Given the description of an element on the screen output the (x, y) to click on. 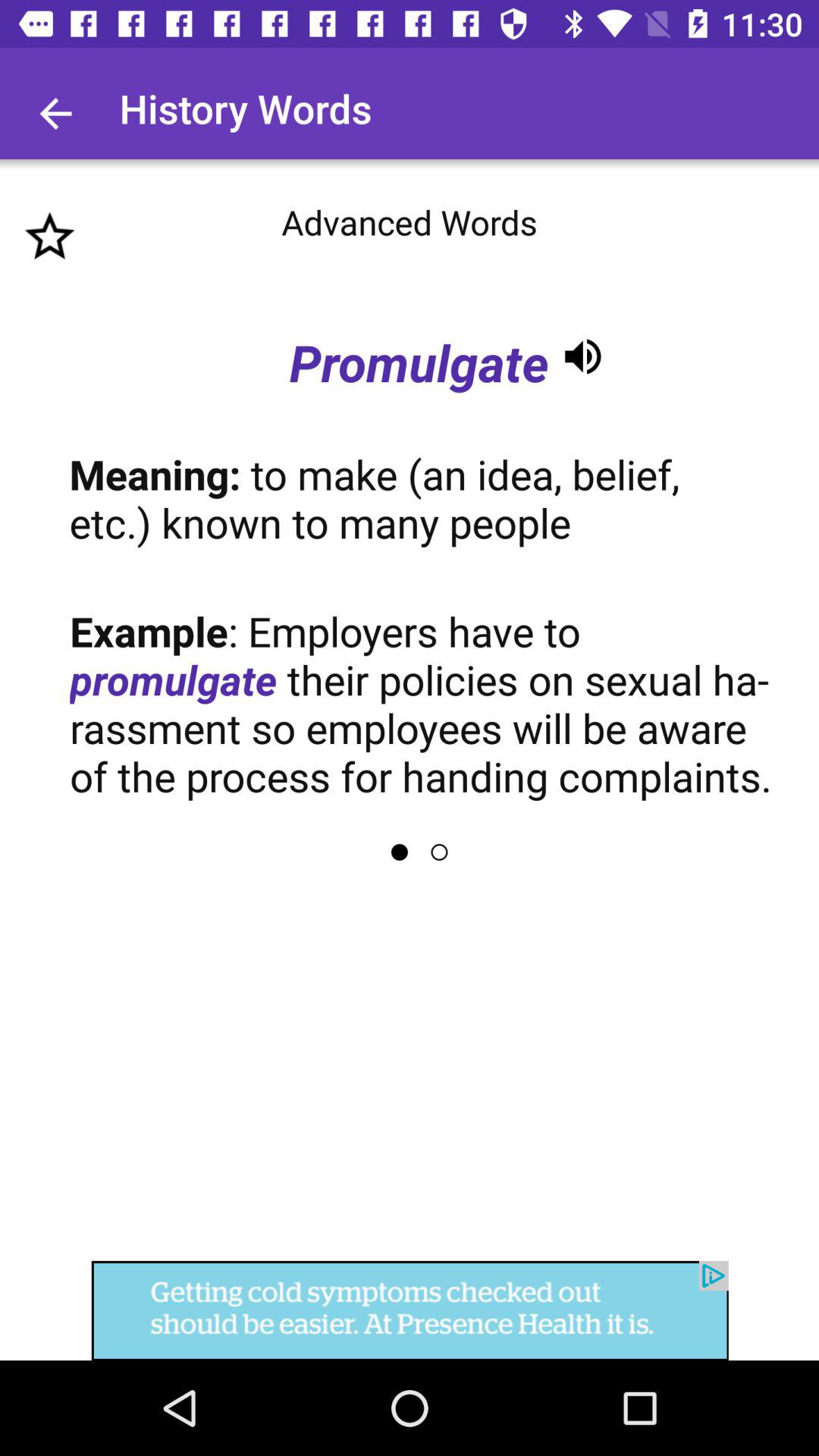
for rateing (49, 236)
